Given the description of an element on the screen output the (x, y) to click on. 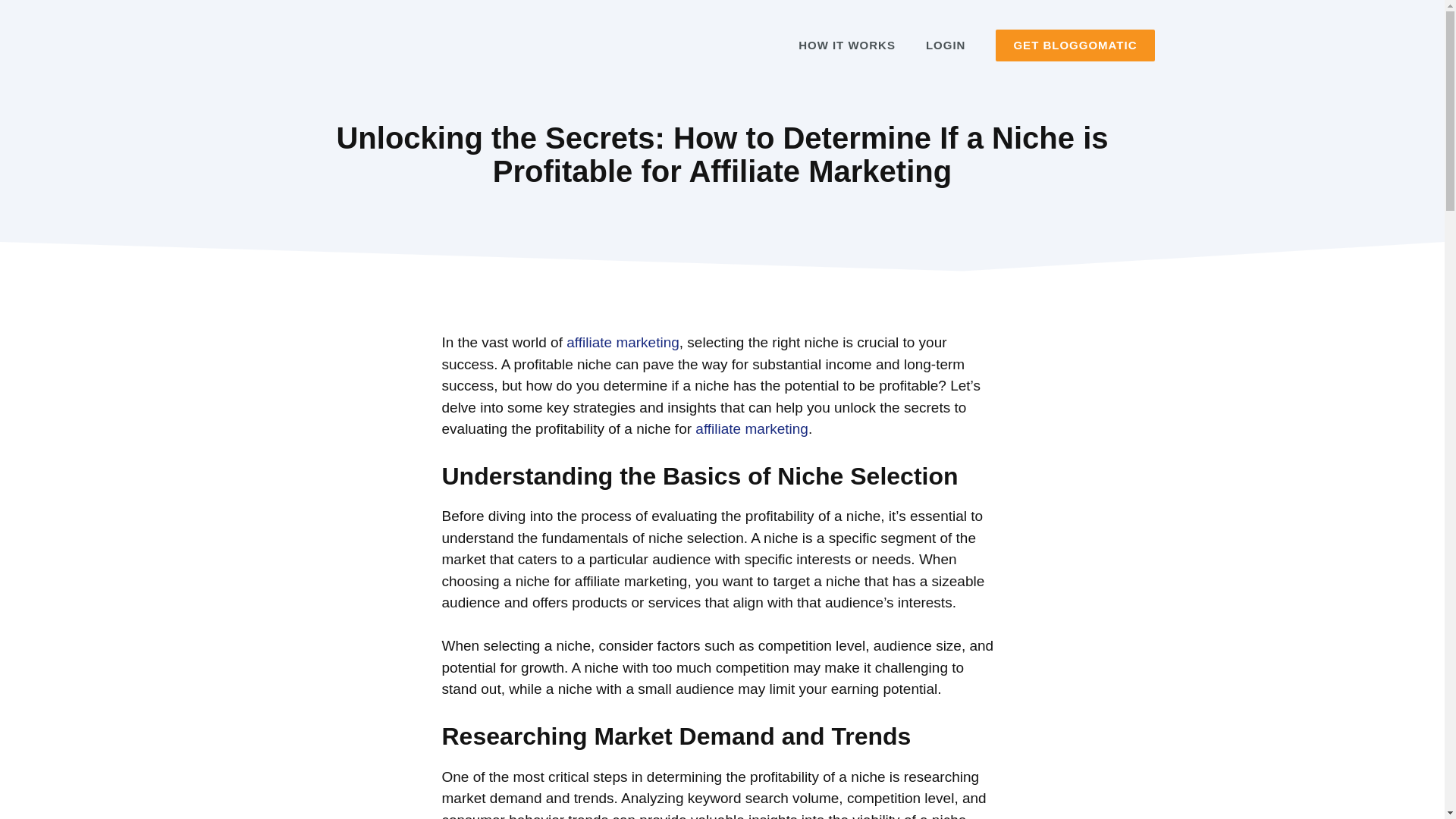
affiliate marketing (751, 428)
affiliate marketing (622, 342)
GET BLOGGOMATIC (1074, 45)
LOGIN (946, 44)
HOW IT WORKS (847, 44)
